Given the description of an element on the screen output the (x, y) to click on. 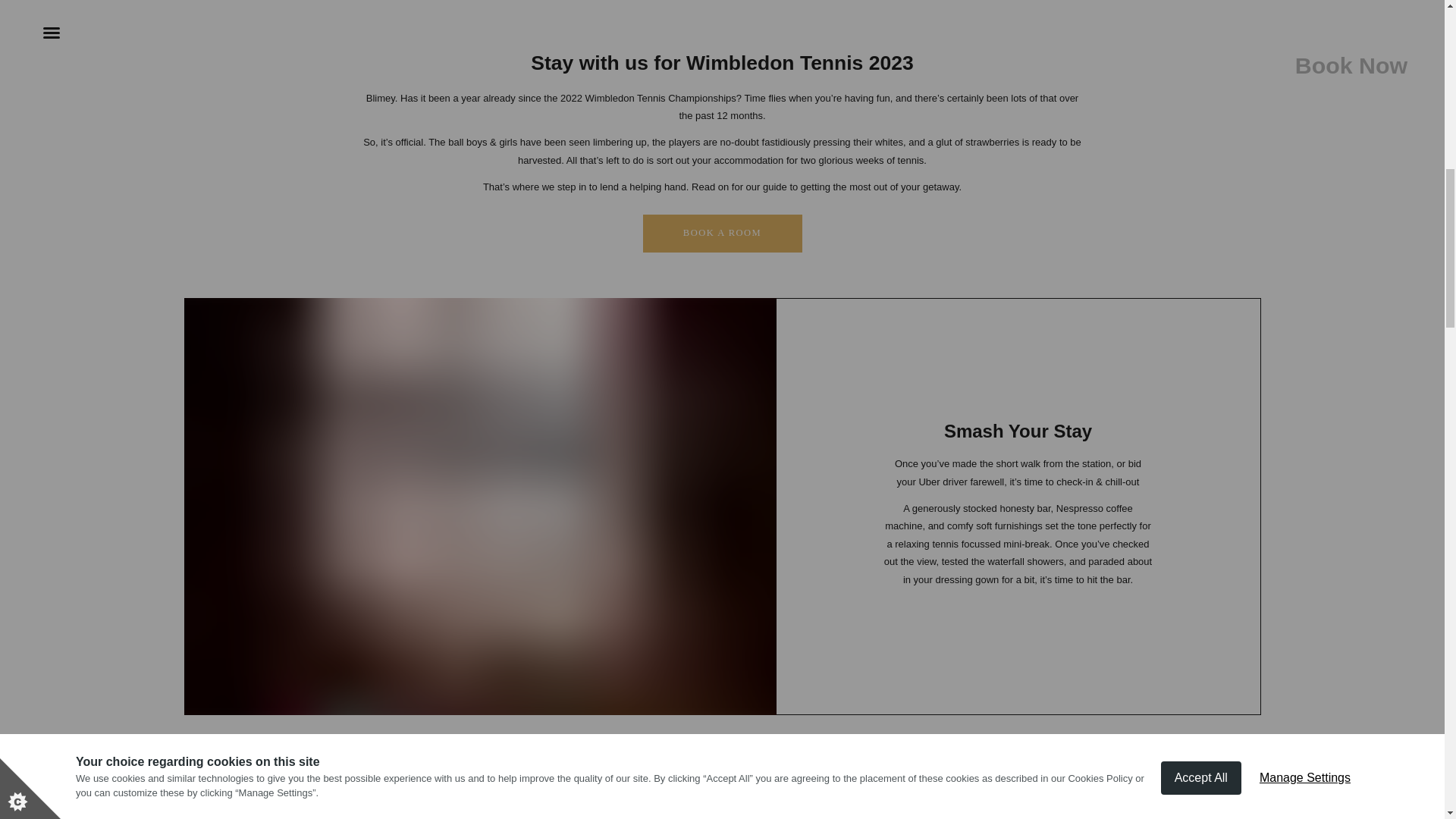
Manage Settings (1304, 2)
BOOK A ROOM (722, 233)
Accept All (1200, 12)
